Given the description of an element on the screen output the (x, y) to click on. 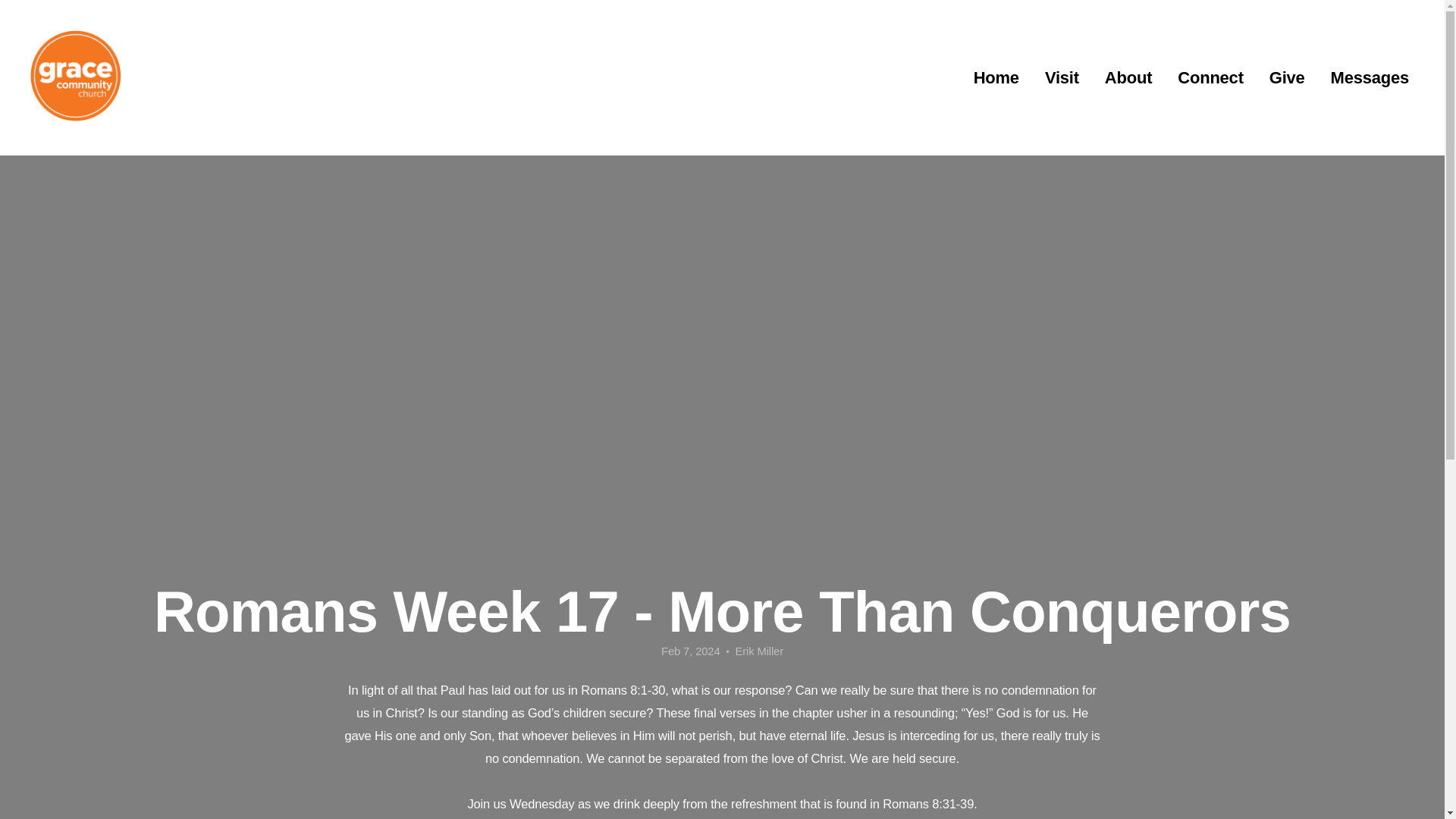
About (1128, 78)
Messages (1370, 78)
Give (1286, 78)
Connect (1209, 78)
Home (996, 78)
Visit (1061, 78)
